Given the description of an element on the screen output the (x, y) to click on. 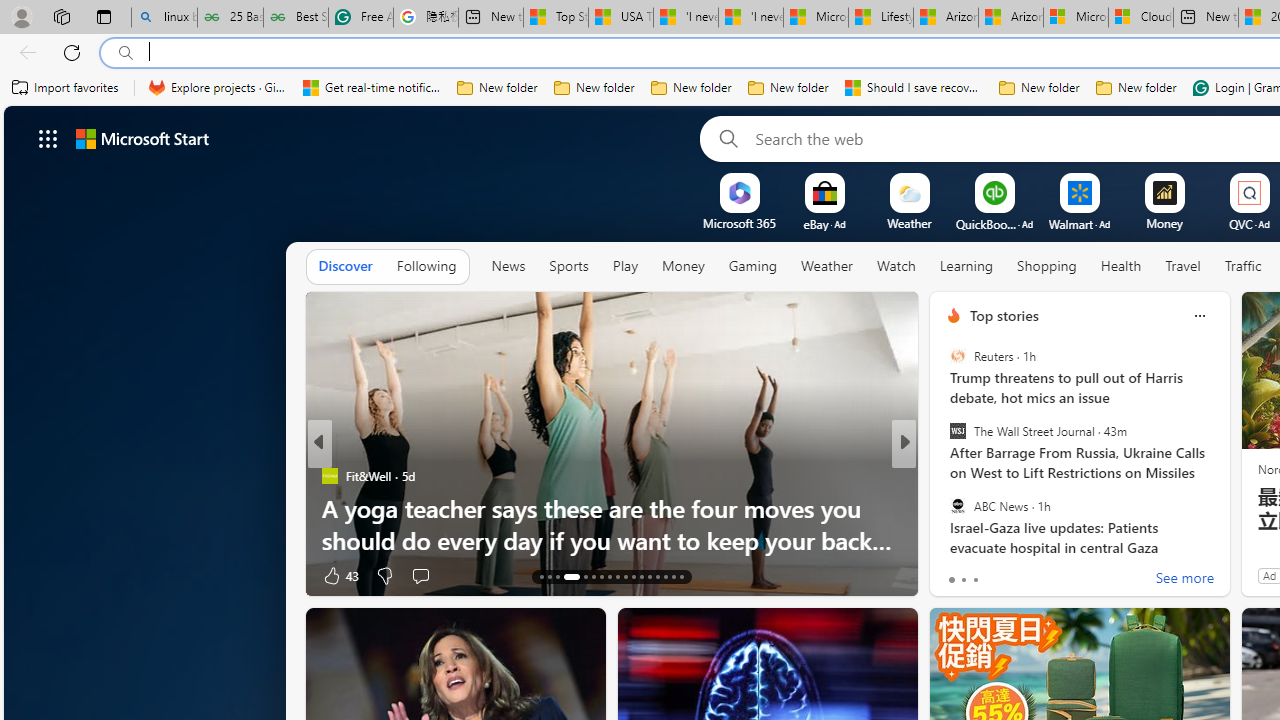
Delish (944, 475)
